Given the description of an element on the screen output the (x, y) to click on. 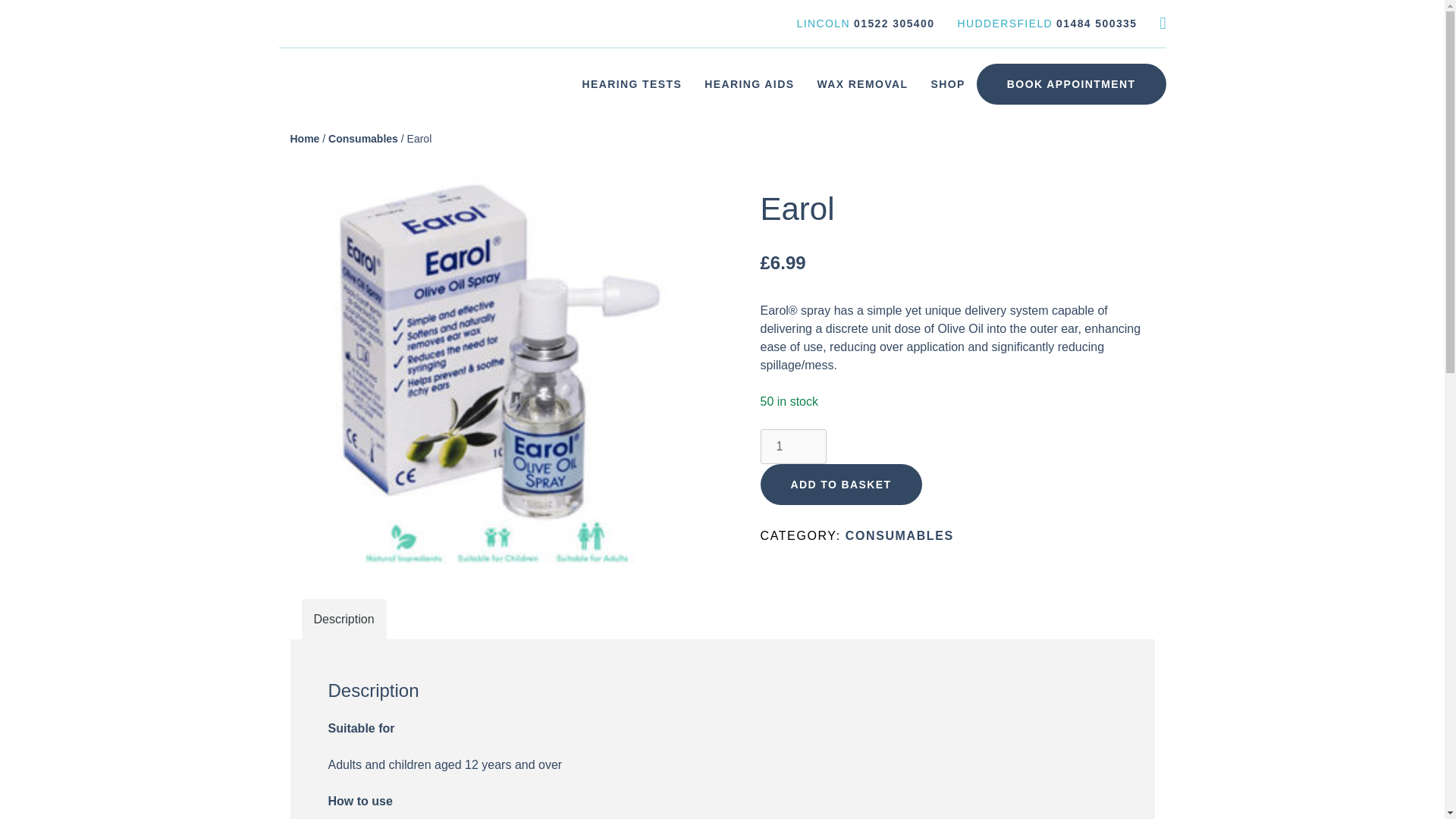
1 (792, 446)
Otec Hearing (314, 114)
ADD TO BASKET (840, 484)
Consumables (363, 138)
SHOP (948, 84)
Home (303, 138)
BOOK APPOINTMENT (1071, 83)
HEARING TESTS (631, 84)
WAX REMOVAL (861, 84)
Description (344, 618)
LINCOLN (823, 23)
CONSUMABLES (899, 535)
01522 305400 (893, 23)
HUDDERSFIELD (1004, 23)
